Given the description of an element on the screen output the (x, y) to click on. 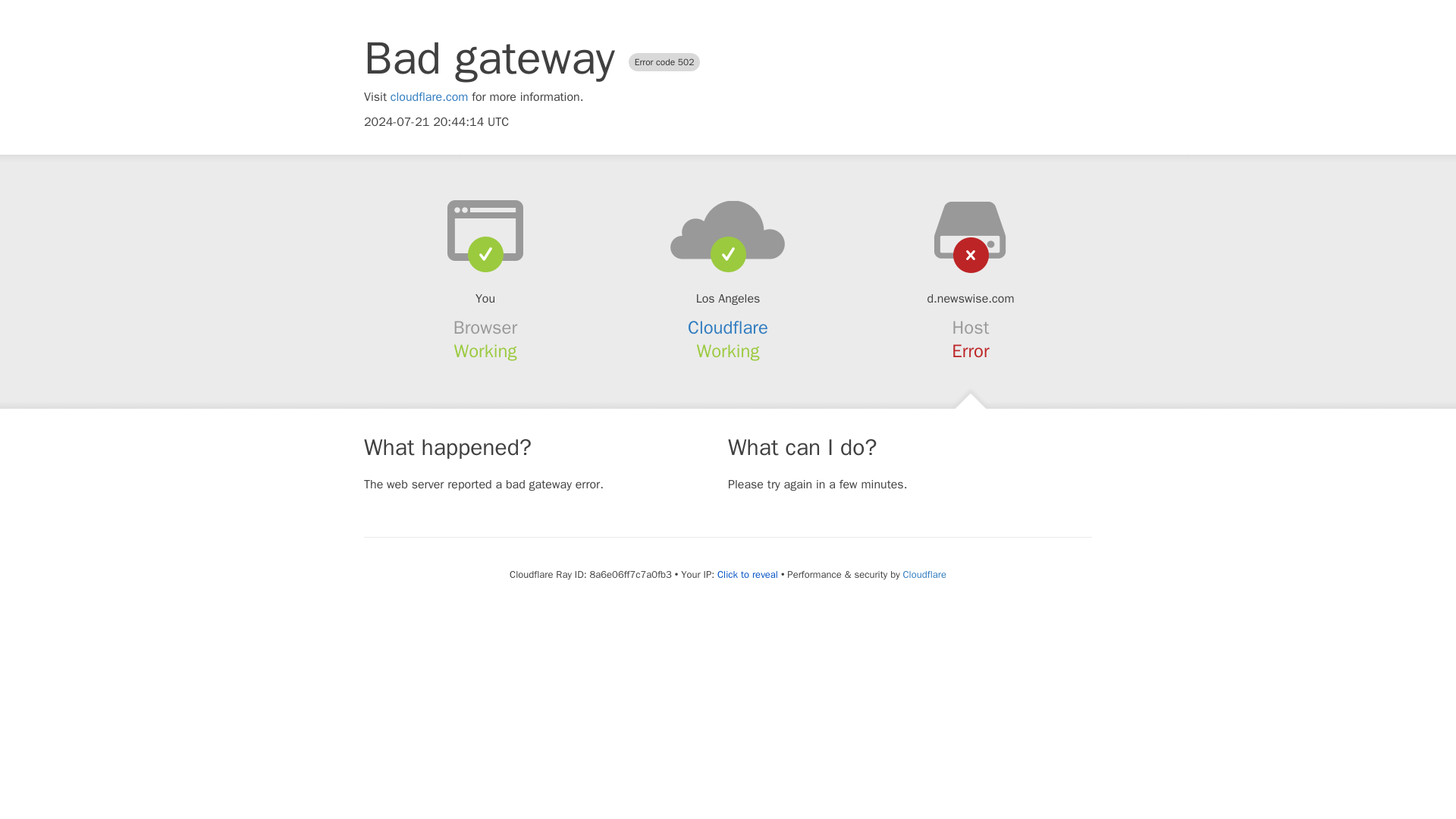
Cloudflare (727, 327)
Click to reveal (747, 574)
Cloudflare (924, 574)
cloudflare.com (429, 96)
